Given the description of an element on the screen output the (x, y) to click on. 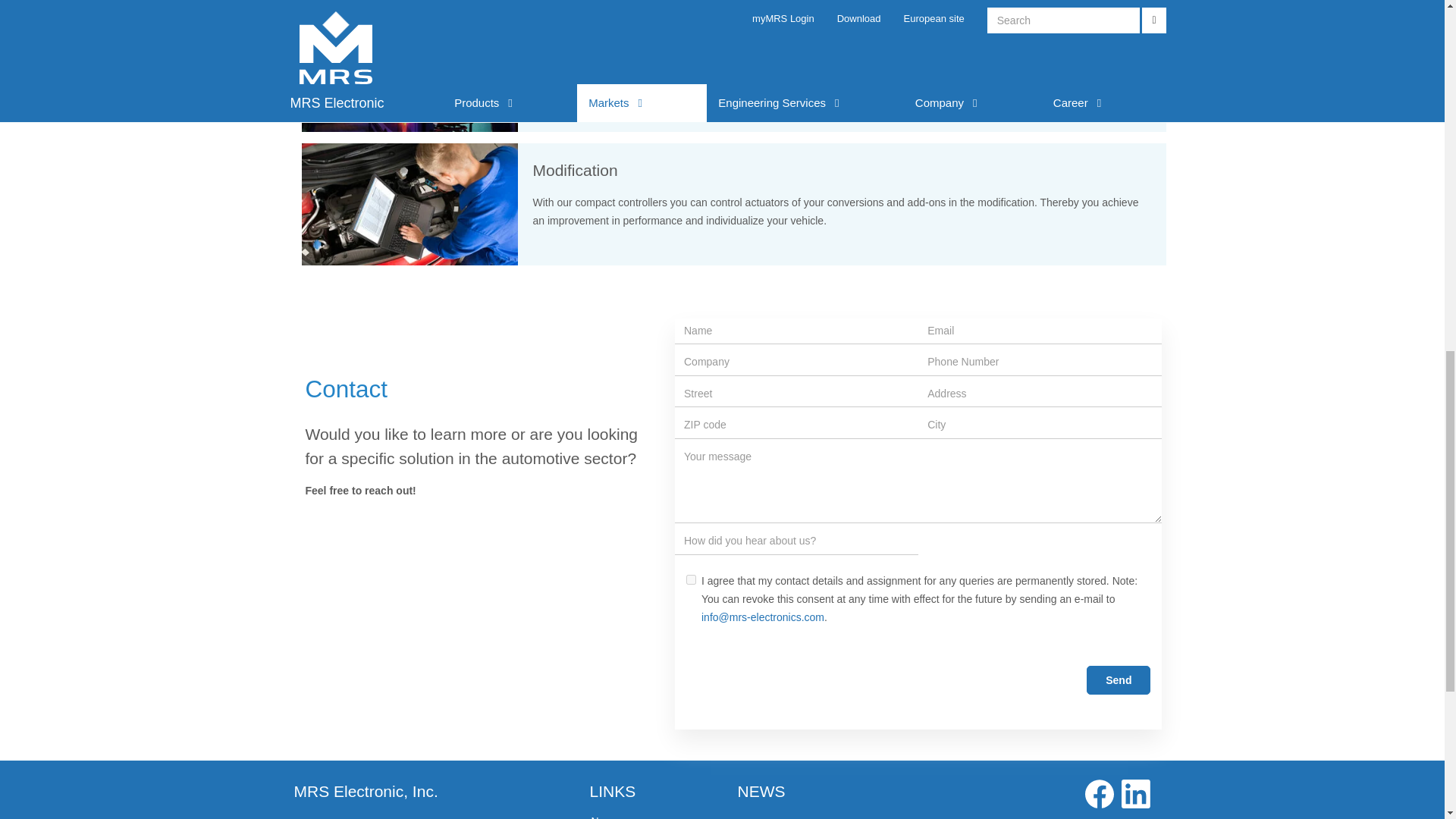
Modification (409, 204)
Send (1118, 679)
News (604, 816)
